Given the description of an element on the screen output the (x, y) to click on. 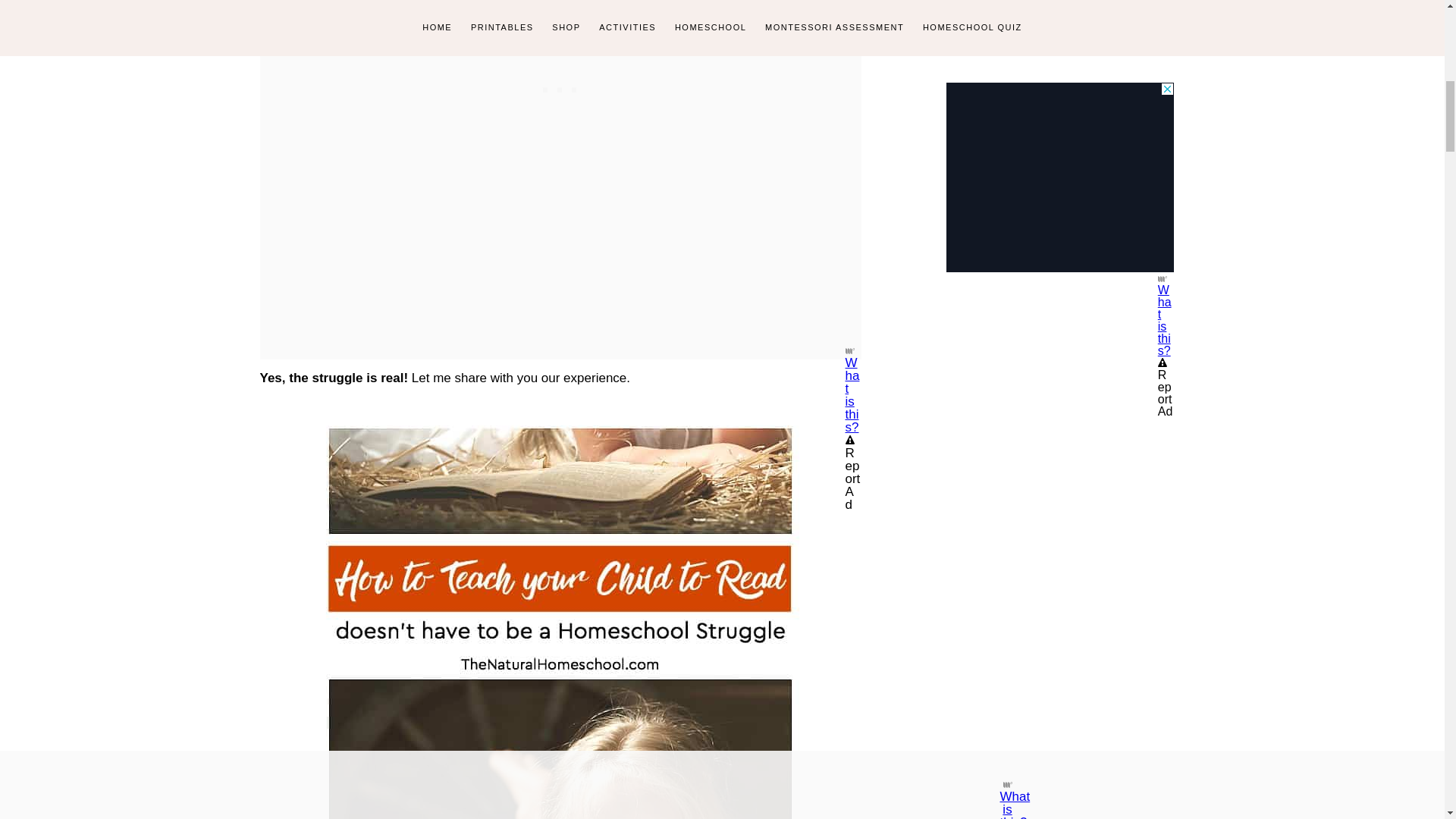
3rd party ad content (1059, 176)
3rd party ad content (560, 44)
